Given the description of an element on the screen output the (x, y) to click on. 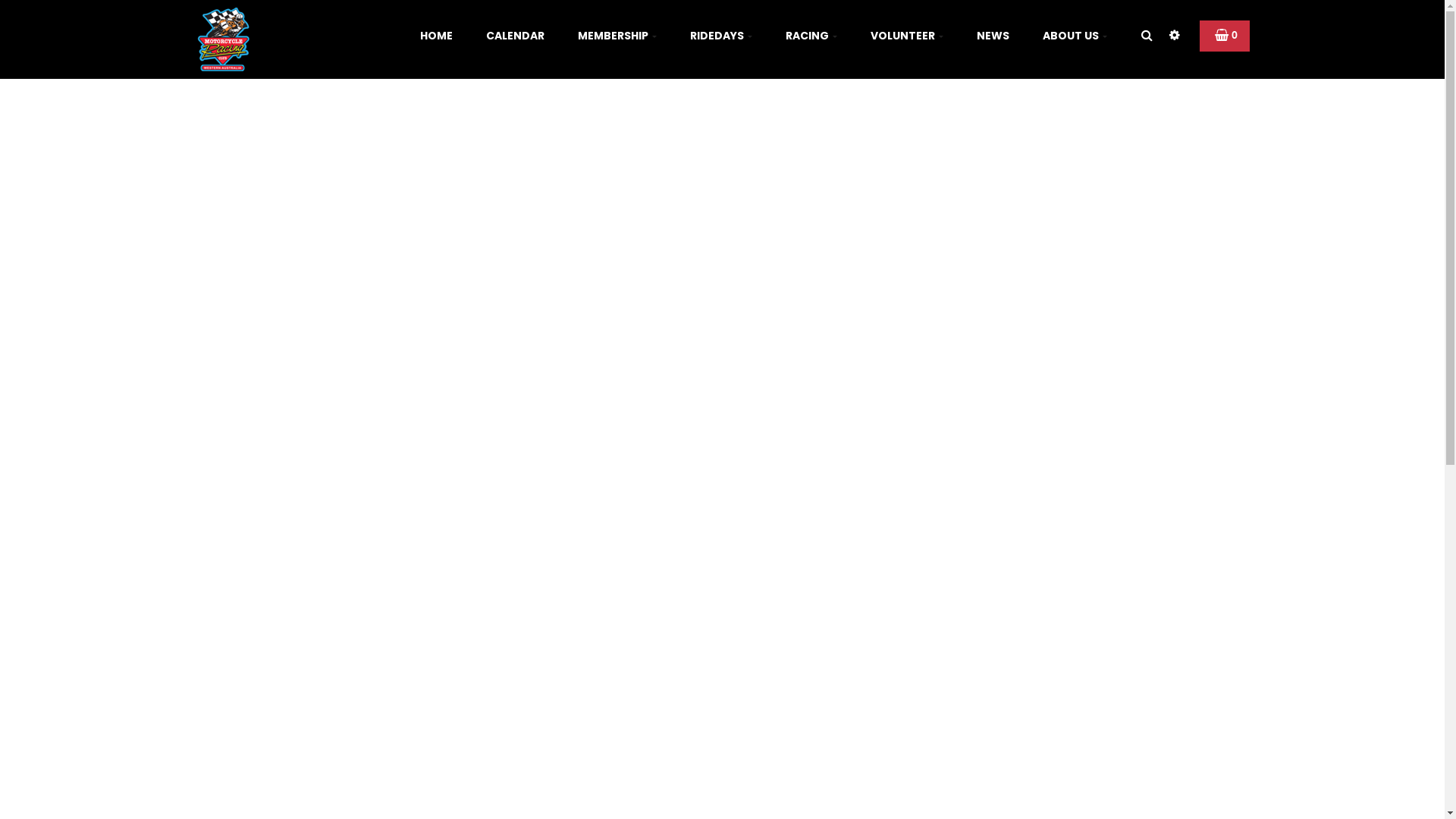
HOME PAGE Element type: text (605, 710)
CALENDAR Element type: text (514, 35)
ABOUT US Element type: text (1073, 35)
RACING Element type: text (811, 35)
RIDEDAYS Element type: text (720, 35)
VOLUNTEER Element type: text (906, 35)
HOME Element type: text (435, 35)
NEWS Element type: text (992, 35)
MEMBERSHIP Element type: text (616, 35)
PREVIOUS PAGE Element type: text (828, 710)
